Given the description of an element on the screen output the (x, y) to click on. 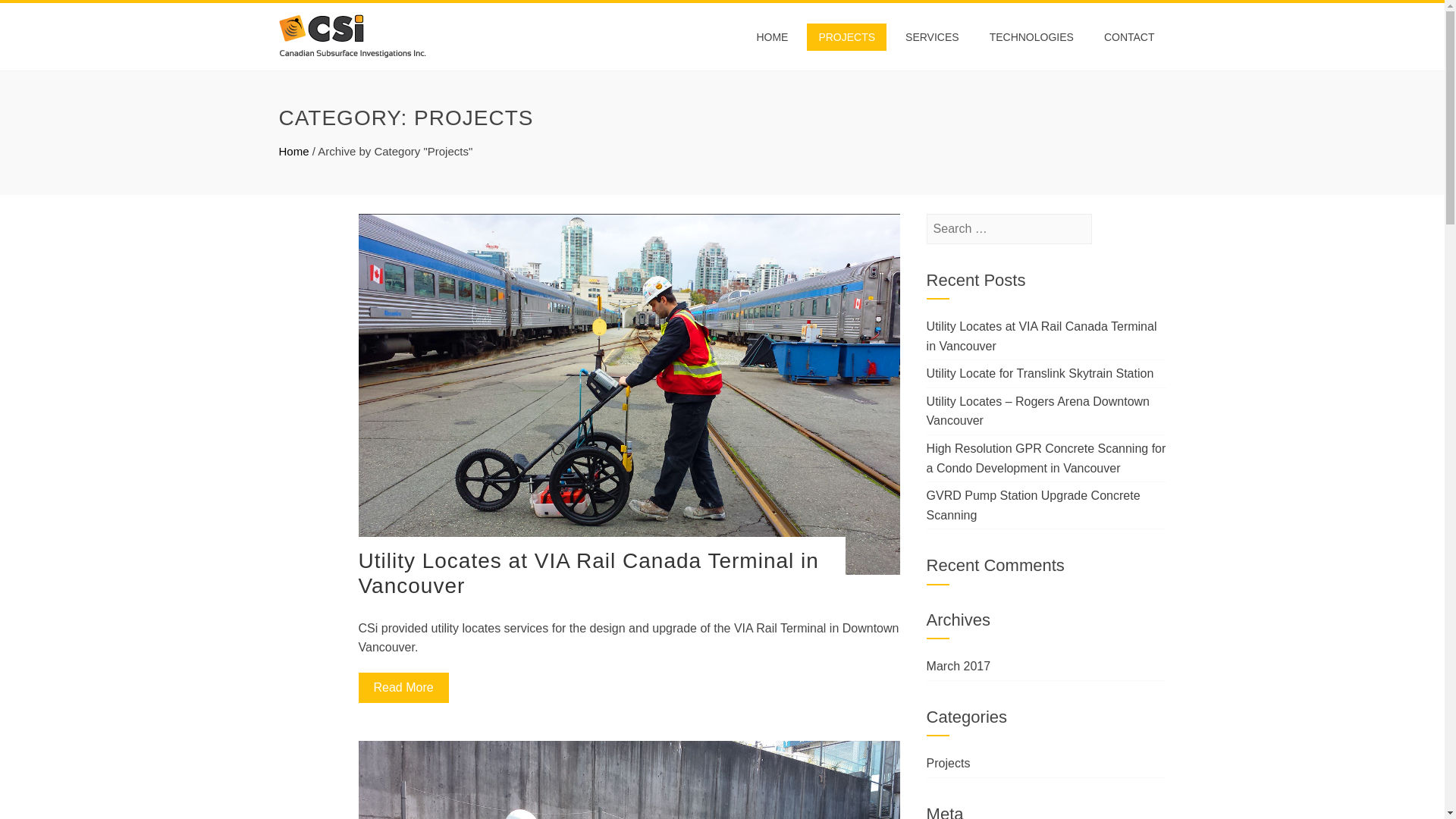
Utility Locates at VIA Rail Canada Terminal in Vancouver (588, 573)
PROJECTS (835, 36)
CONTACT (1129, 36)
Utility Locate for Translink Skytrain Station (1040, 373)
Home (293, 151)
Utility Locates at VIA Rail Canada Terminal in Vancouver (1041, 336)
Search (34, 15)
TECHNOLOGIES (1029, 36)
Read More (403, 687)
HOME (758, 36)
SERVICES (925, 36)
